Given the description of an element on the screen output the (x, y) to click on. 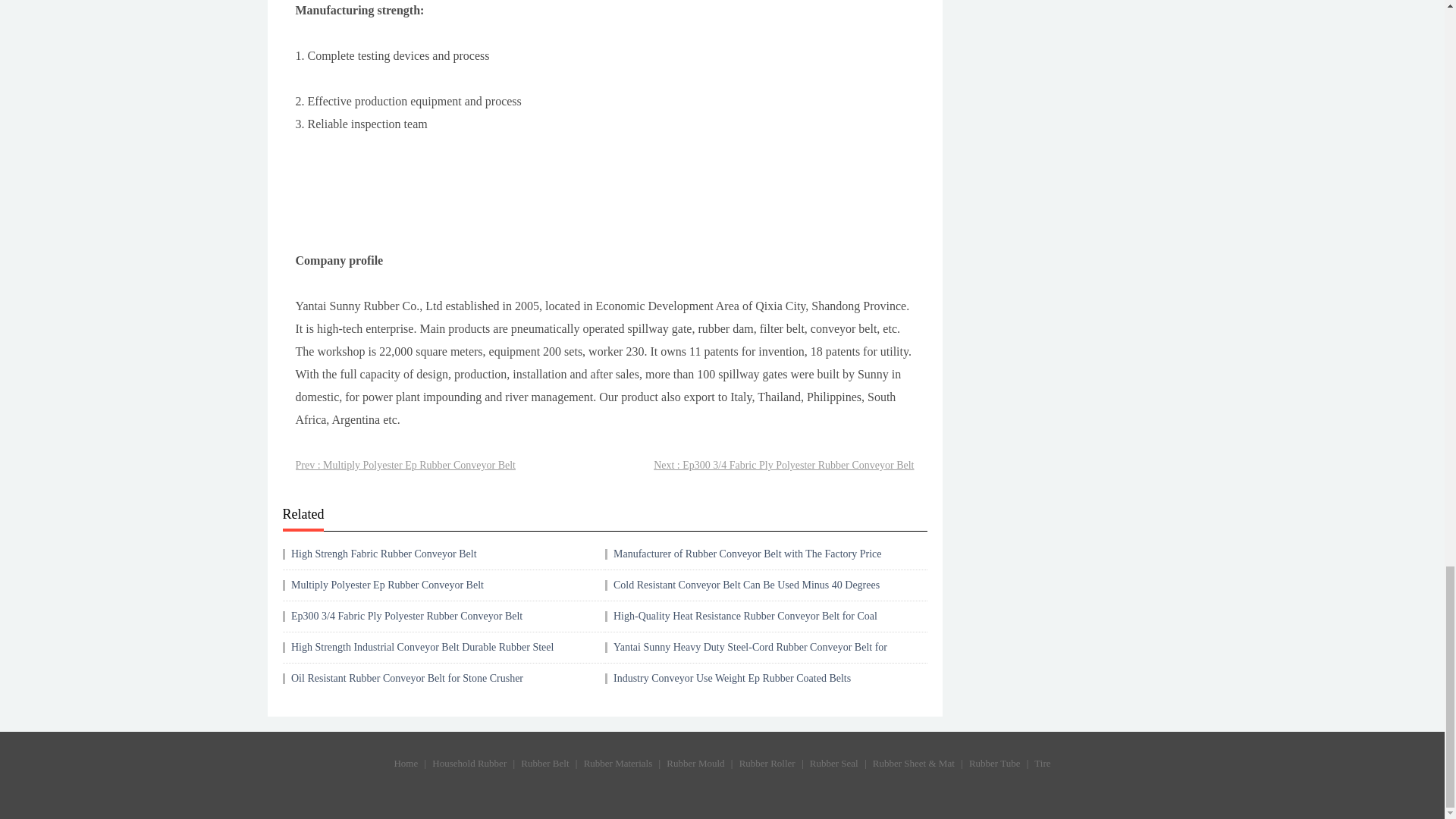
Industry Conveyor Use Weight Ep Rubber Coated Belts (731, 677)
Prev : Multiply Polyester Ep Rubber Conveyor Belt (405, 465)
Multiply Polyester Ep Rubber Conveyor Belt (387, 584)
High Strengh Fabric Rubber Conveyor Belt (384, 553)
Cold Resistant Conveyor Belt Can Be Used Minus 40 Degrees (745, 584)
Oil Resistant Rubber Conveyor Belt for Stone Crusher (406, 677)
Manufacturer of Rubber Conveyor Belt with The Factory Price (747, 553)
